Given the description of an element on the screen output the (x, y) to click on. 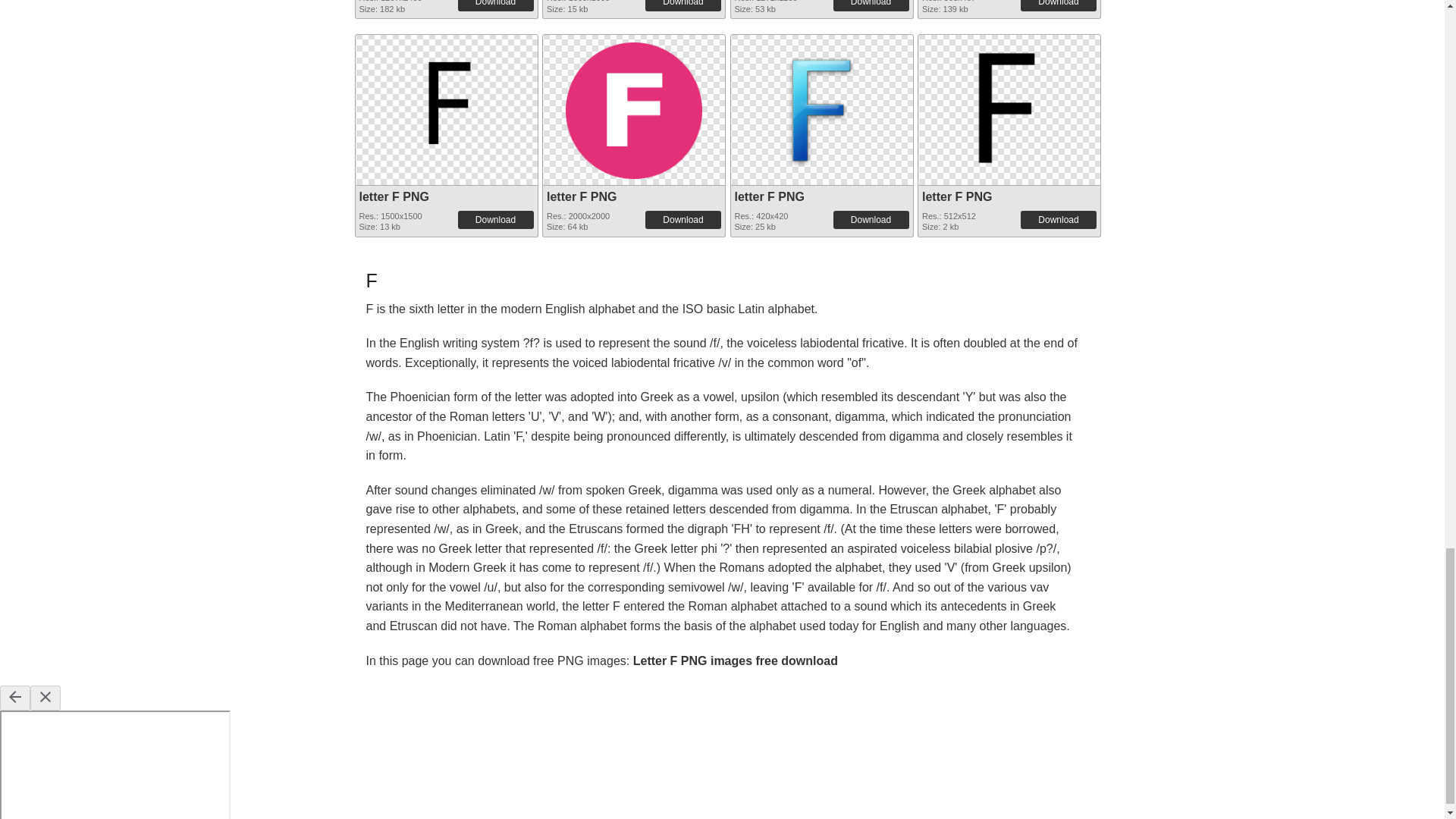
Download (870, 5)
Download (496, 5)
Download (1058, 5)
Download (682, 5)
